Given the description of an element on the screen output the (x, y) to click on. 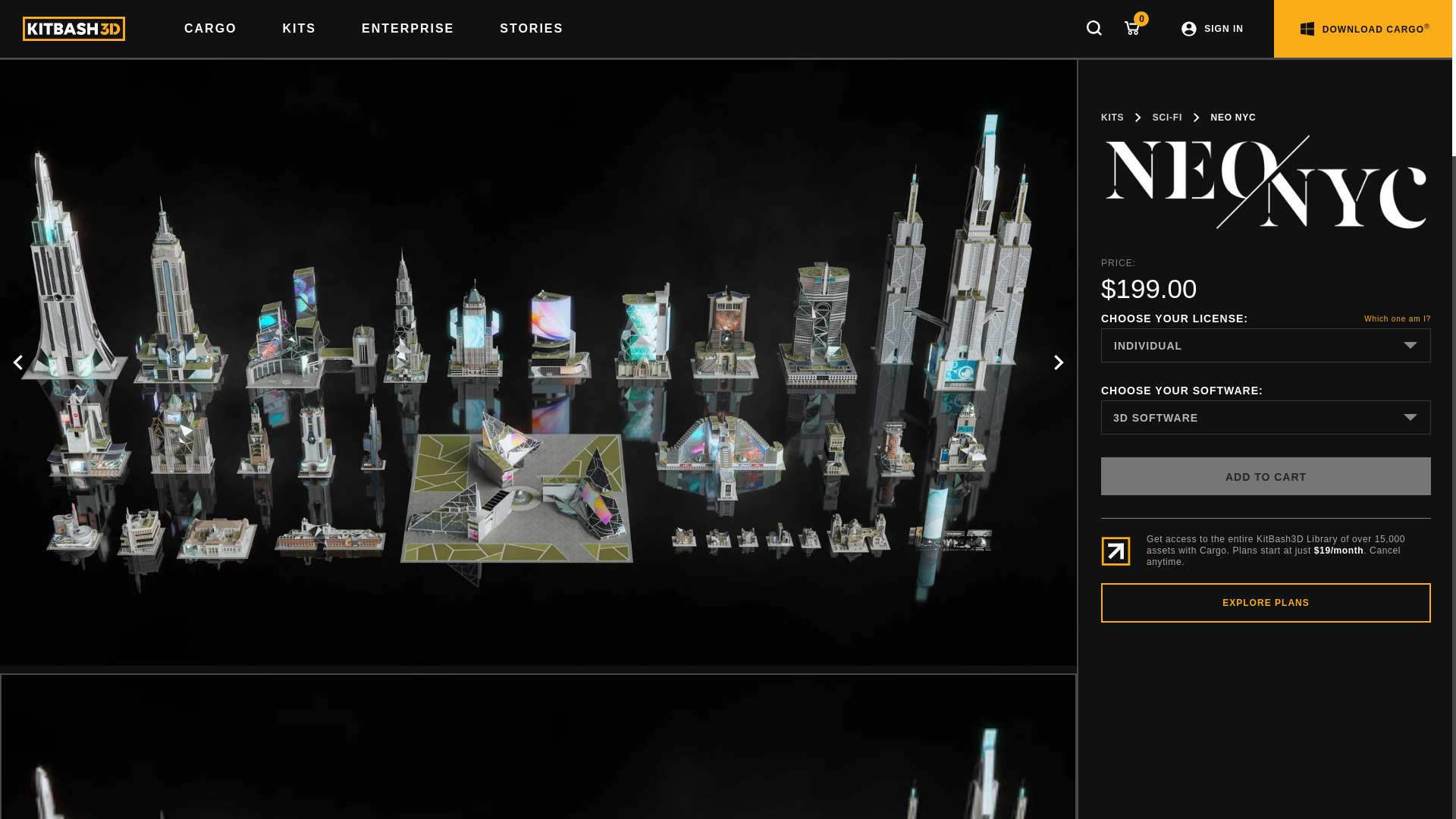
CARGO (210, 28)
KITS (1112, 117)
KITS (299, 28)
Kits (299, 28)
Enterprise (408, 28)
Add to cart (1265, 476)
SIGN IN (1211, 28)
Cargo (210, 28)
Stories (531, 28)
